Given the description of an element on the screen output the (x, y) to click on. 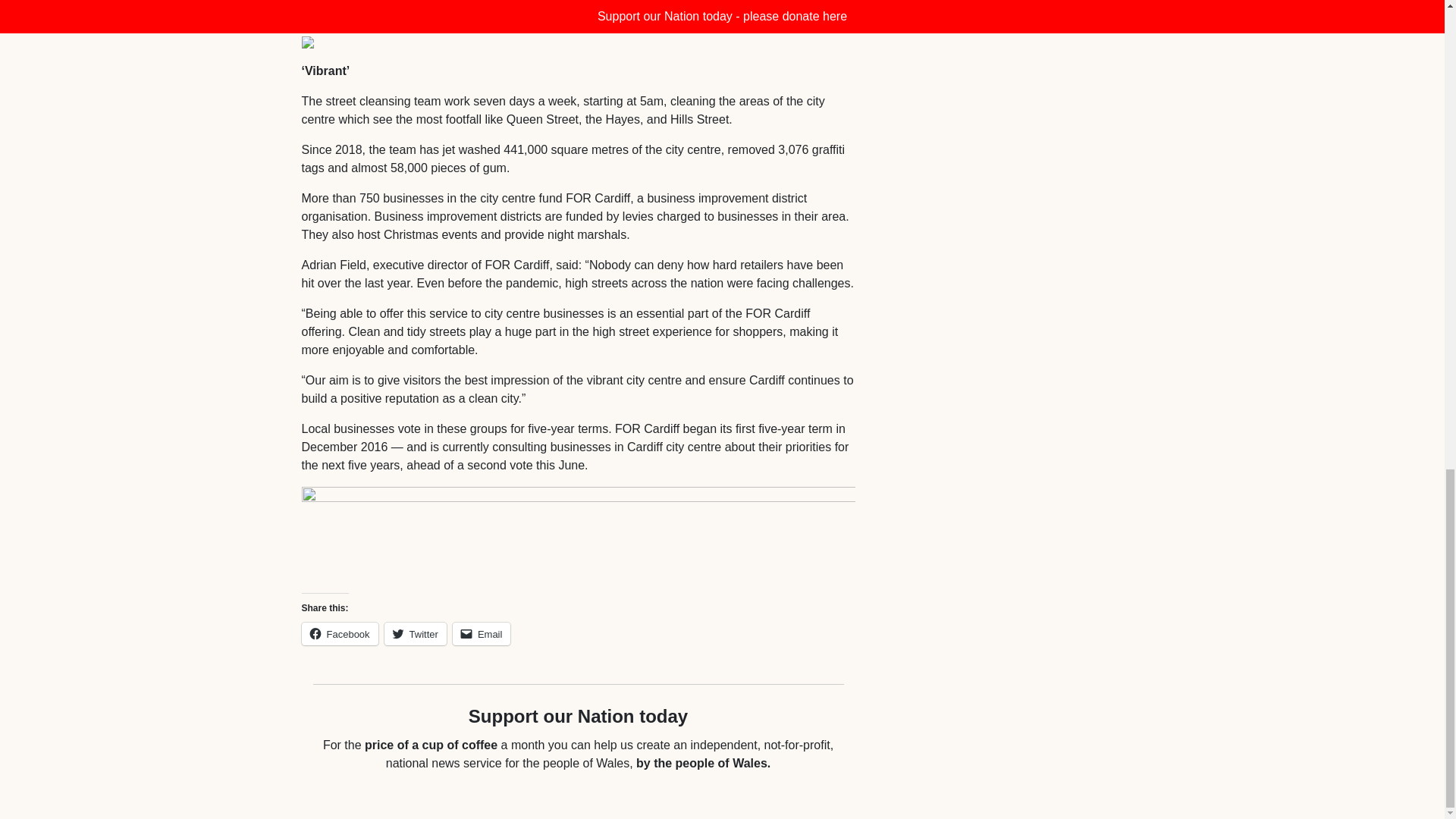
Email (481, 633)
Facebook (339, 633)
Click to share on Twitter (415, 633)
Click to email a link to a friend (481, 633)
Click to share on Facebook (339, 633)
Twitter (415, 633)
